Given the description of an element on the screen output the (x, y) to click on. 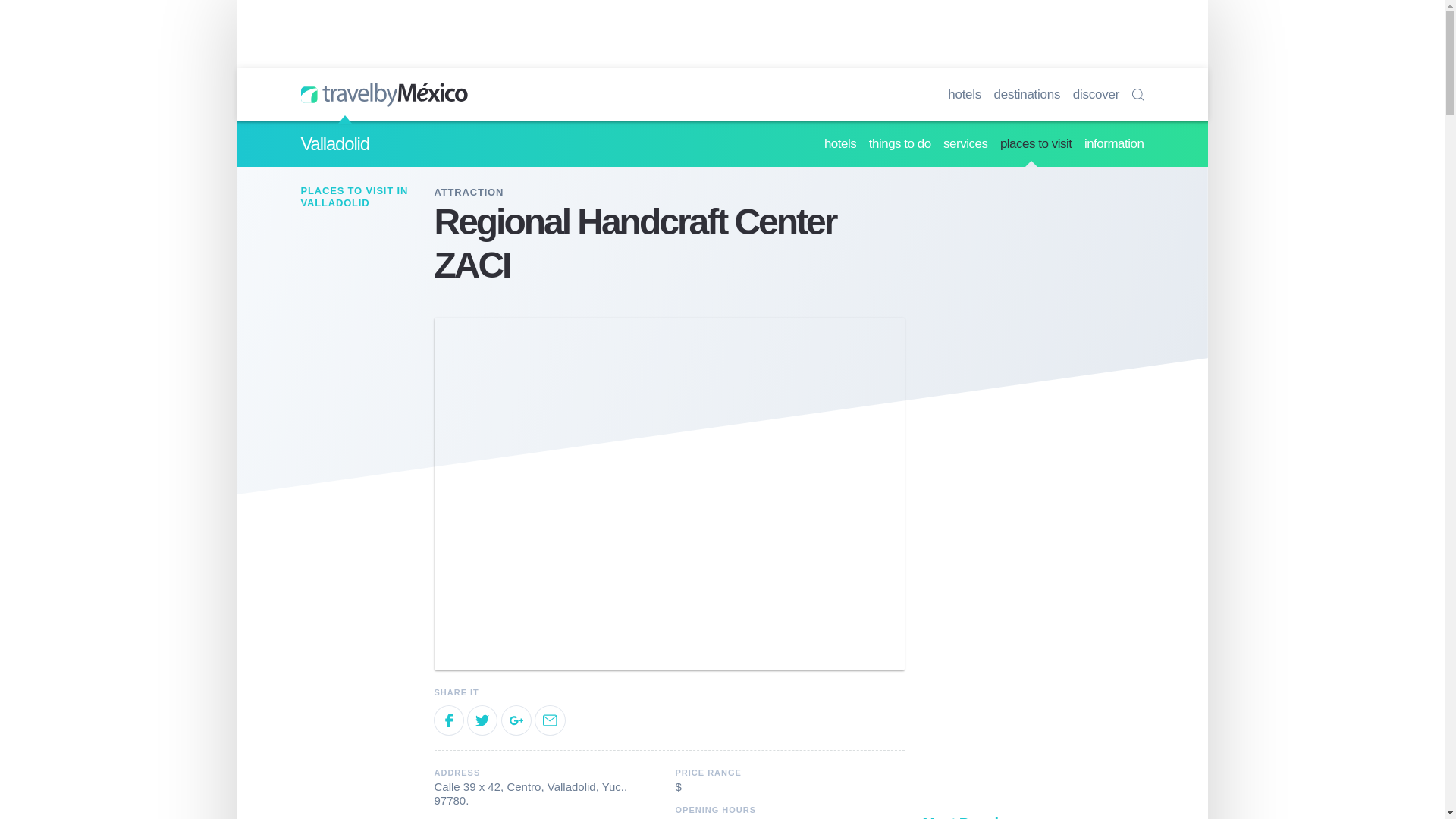
Email (549, 719)
places to visit (1035, 144)
Facebook (448, 719)
services (965, 144)
PLACES TO VISIT IN VALLADOLID (360, 196)
Valladolid (333, 143)
destinations (1027, 94)
things to do (900, 144)
Twitter (481, 719)
